Given the description of an element on the screen output the (x, y) to click on. 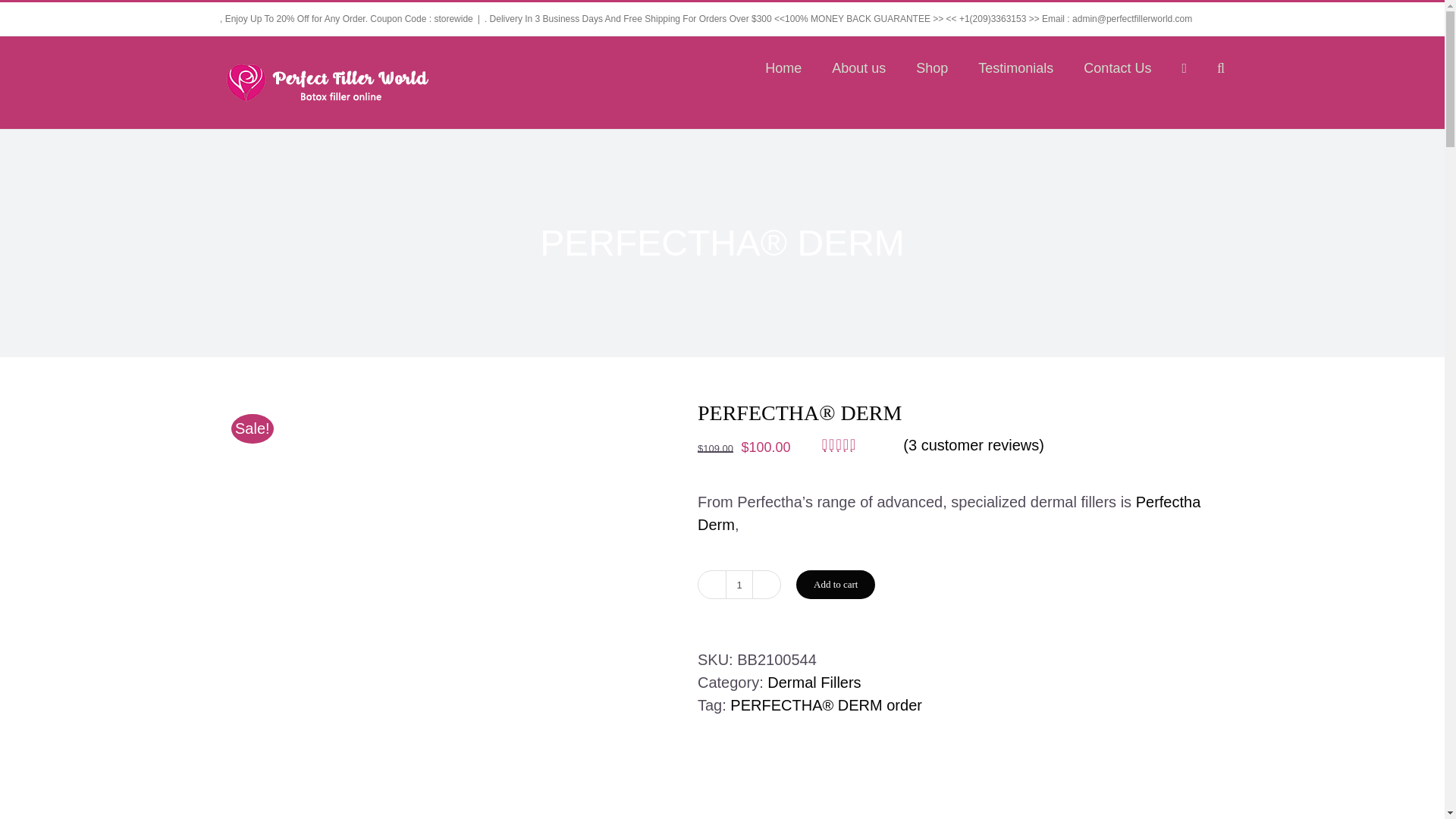
Contact Us (1117, 67)
Add to cart (835, 584)
Testimonials (1015, 67)
Dermal Fillers (813, 682)
1 (738, 584)
Perfectha Derm (948, 513)
